Given the description of an element on the screen output the (x, y) to click on. 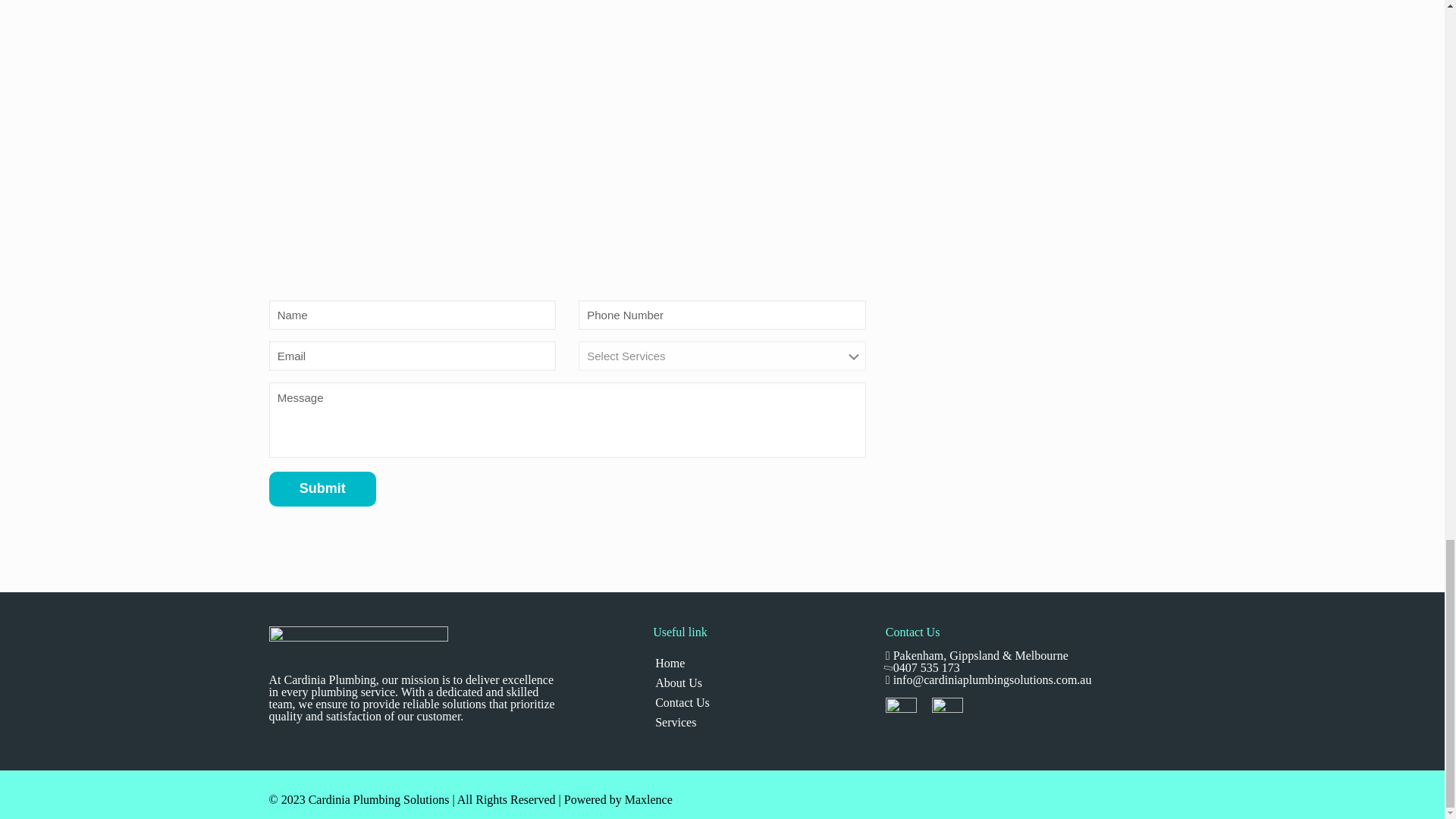
About Us (756, 682)
Home (756, 663)
Services (756, 722)
Submit (322, 488)
Submit (322, 488)
0407 535 173 (926, 667)
Contact Us (756, 702)
